Given the description of an element on the screen output the (x, y) to click on. 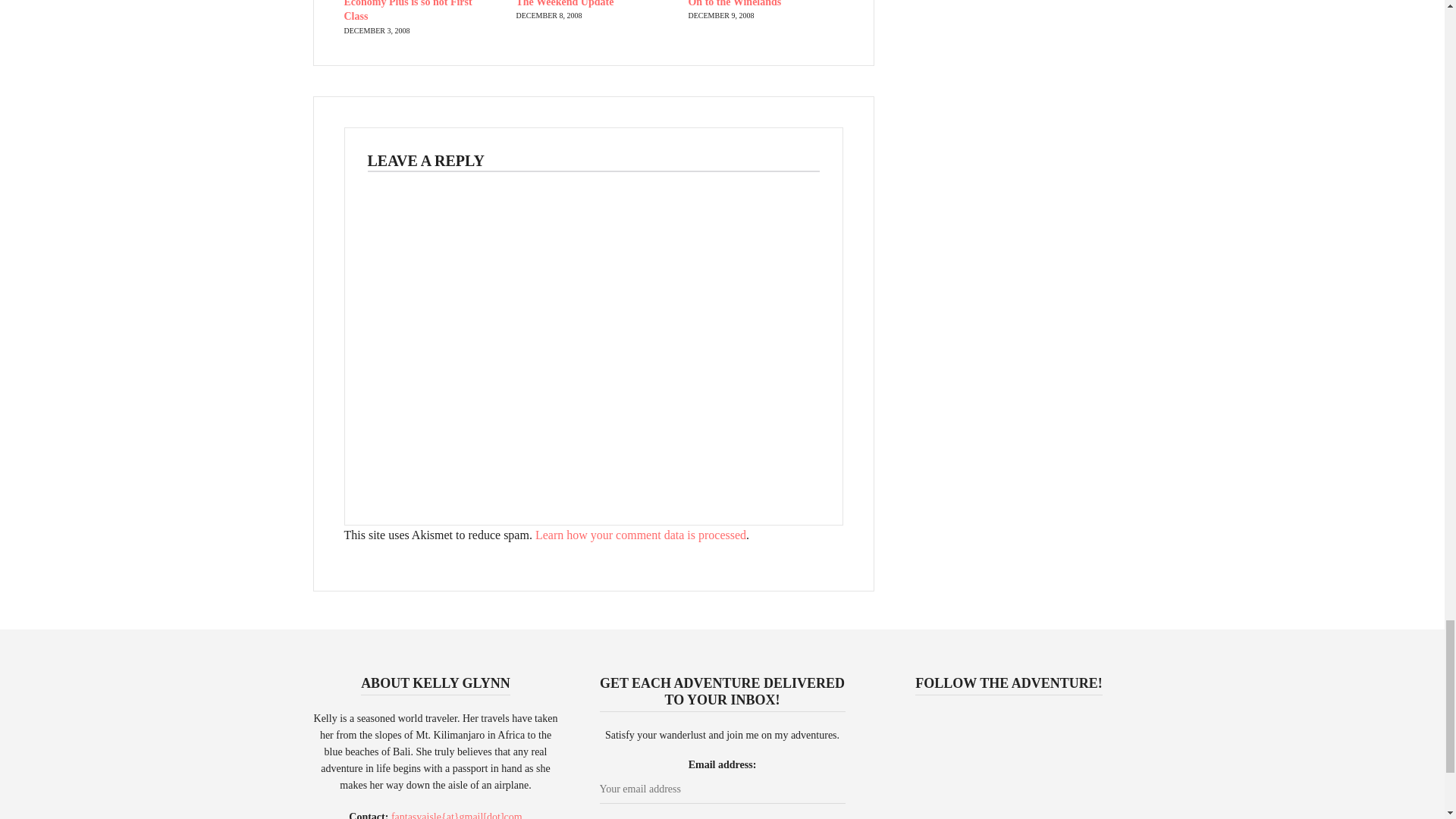
Economy Plus is so not First Class (407, 11)
